Given the description of an element on the screen output the (x, y) to click on. 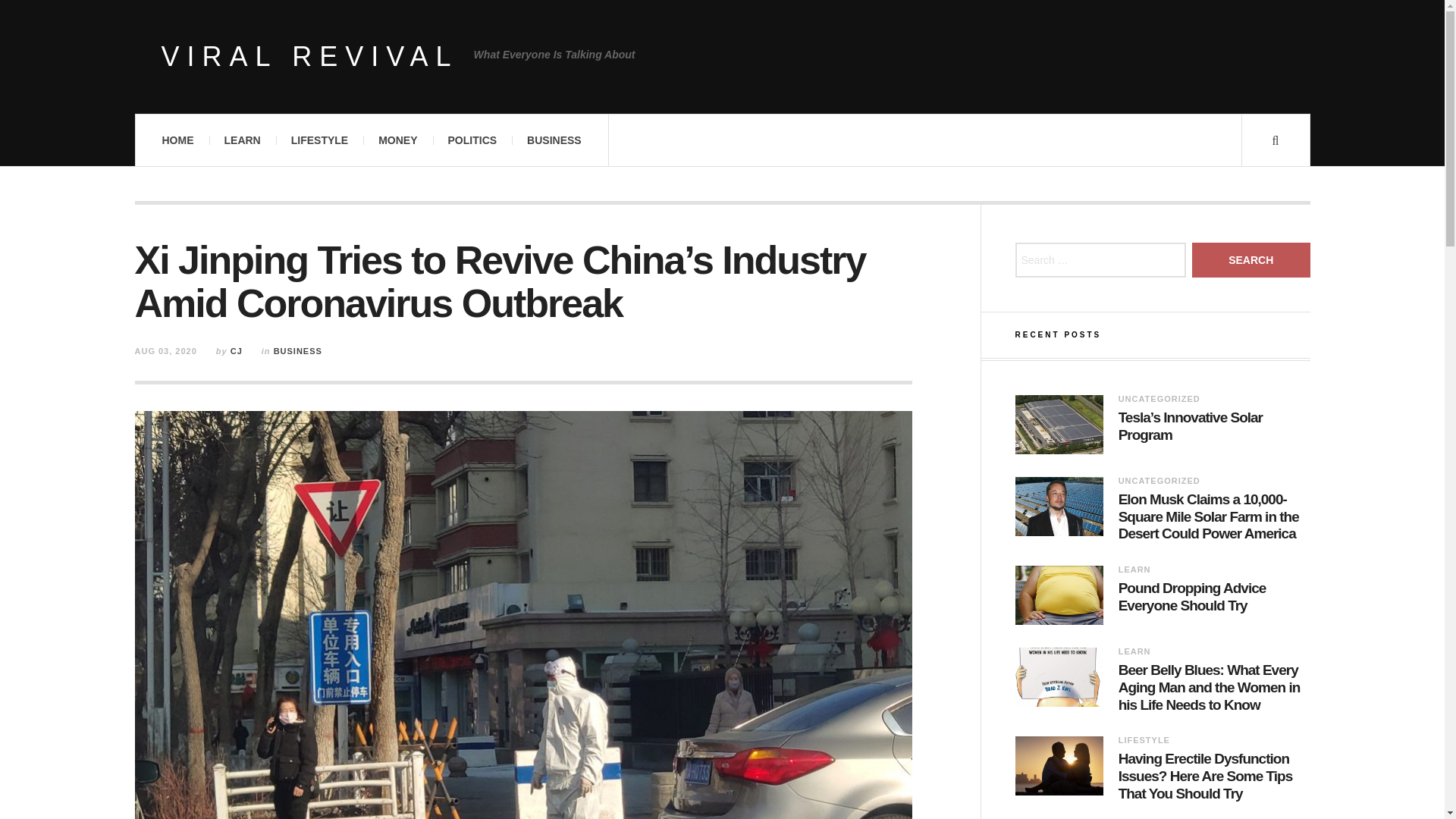
Search (1251, 259)
View all posts in Uncategorized (1158, 398)
LIFESTYLE (319, 140)
MONEY (397, 140)
BUSINESS (297, 350)
View all posts in Business (297, 350)
UNCATEGORIZED (1158, 398)
BUSINESS (554, 140)
LEARN (1134, 651)
POLITICS (472, 140)
View all posts in Lifestyle (1144, 739)
View all posts in Uncategorized (1158, 480)
Search (1251, 259)
View all posts in Learn (1134, 651)
HOME (178, 140)
